Given the description of an element on the screen output the (x, y) to click on. 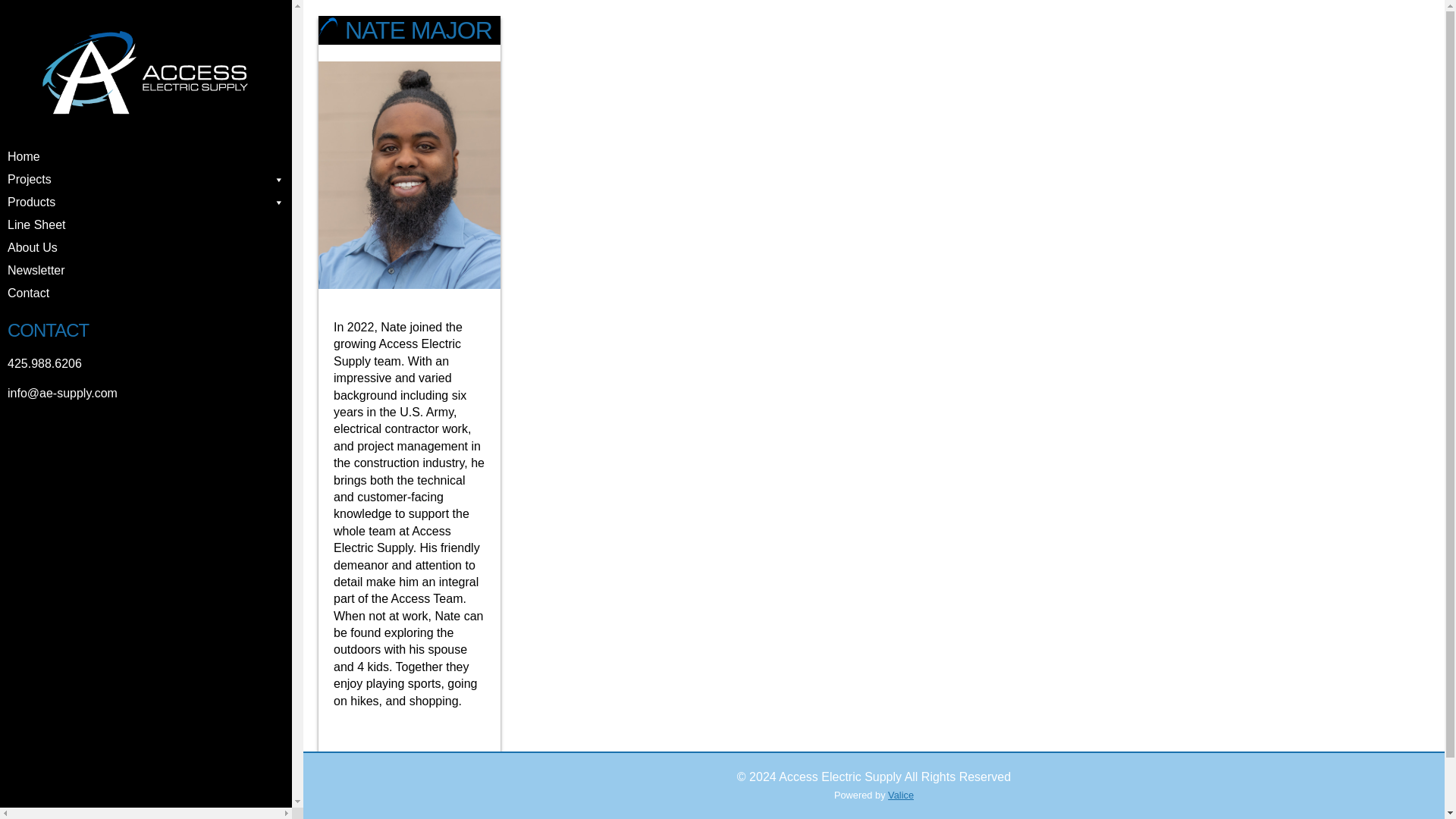
Projects (146, 179)
Products (146, 201)
Home (146, 156)
